Given the description of an element on the screen output the (x, y) to click on. 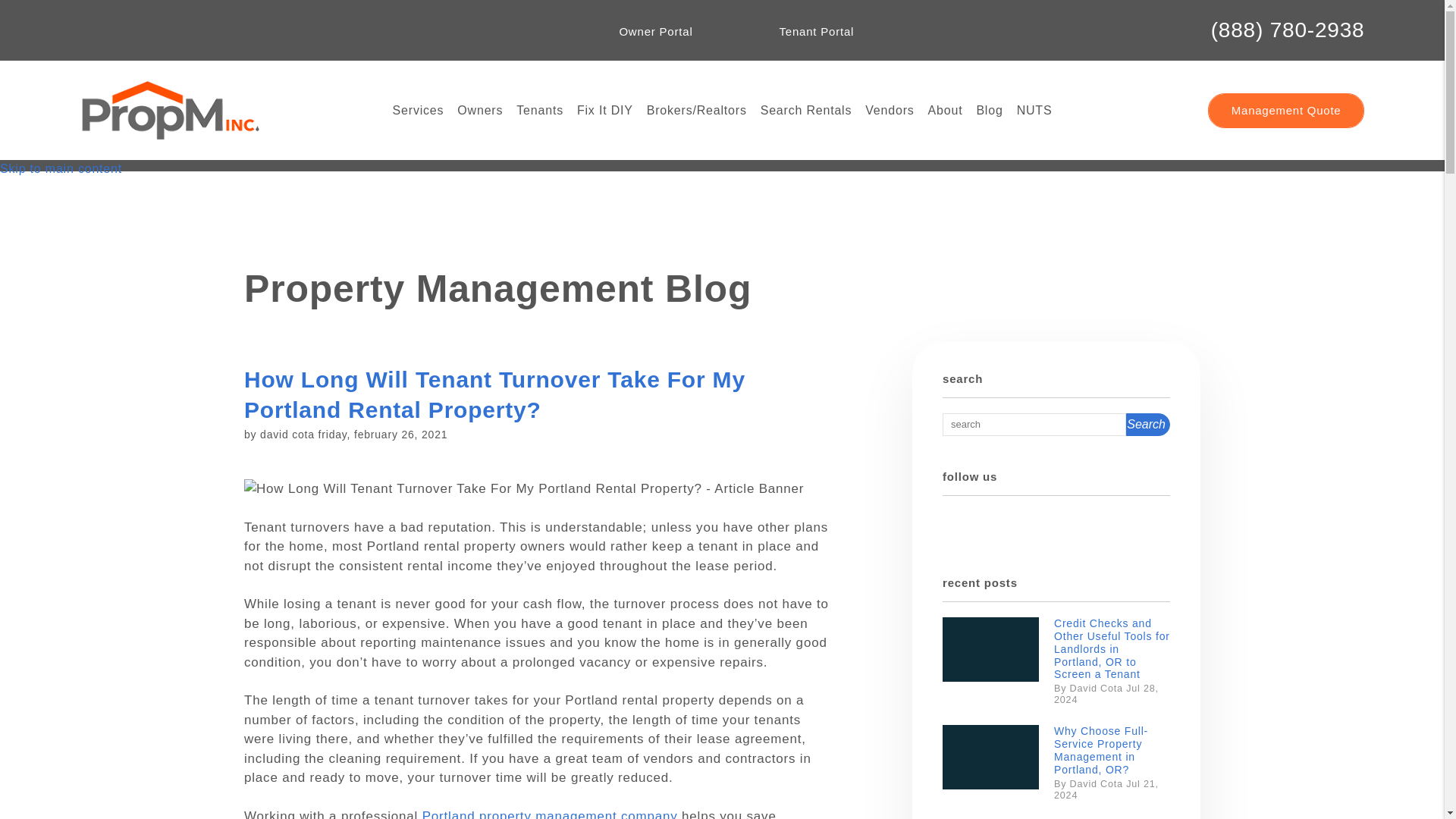
Services (418, 109)
Tenants (539, 109)
At least 3 characters (1033, 424)
Tenant Portal (802, 31)
opens in a new window (184, 29)
Facebook (93, 29)
opens in a new window (123, 29)
opens in a new window (985, 524)
Instagram (123, 29)
Management Quote (1286, 109)
Owners (479, 109)
Tiktok (215, 29)
opens in a new window (154, 29)
Linked In (154, 29)
opens in a new window (93, 29)
